Given the description of an element on the screen output the (x, y) to click on. 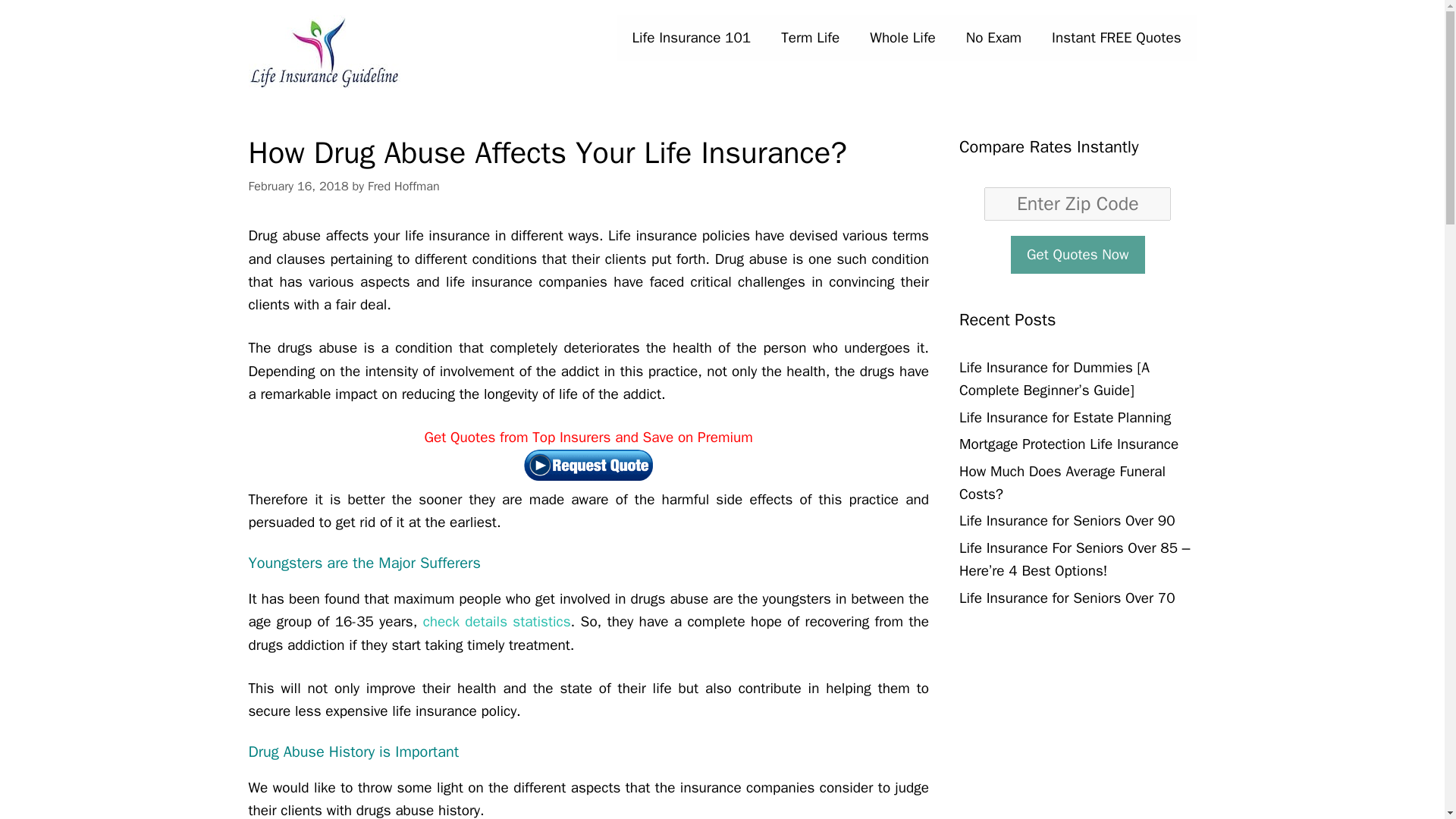
How Much Does Average Funeral Costs? (1062, 482)
No Exam (993, 37)
Term Life (809, 37)
check details statistics (496, 621)
Life Insurance Guideline (324, 52)
Life Insurance for Estate Planning (1064, 417)
Life Insurance for Seniors Over 90 (1066, 520)
Life Insurance for Seniors Over 70 (1066, 597)
Mortgage Protection Life Insurance (1068, 443)
Whole Life (902, 37)
Instant FREE Quotes (1115, 37)
Life Insurance 101 (692, 37)
Get Quotes Now (1077, 254)
View all posts by Fred Hoffman (403, 186)
Fred Hoffman (403, 186)
